Given the description of an element on the screen output the (x, y) to click on. 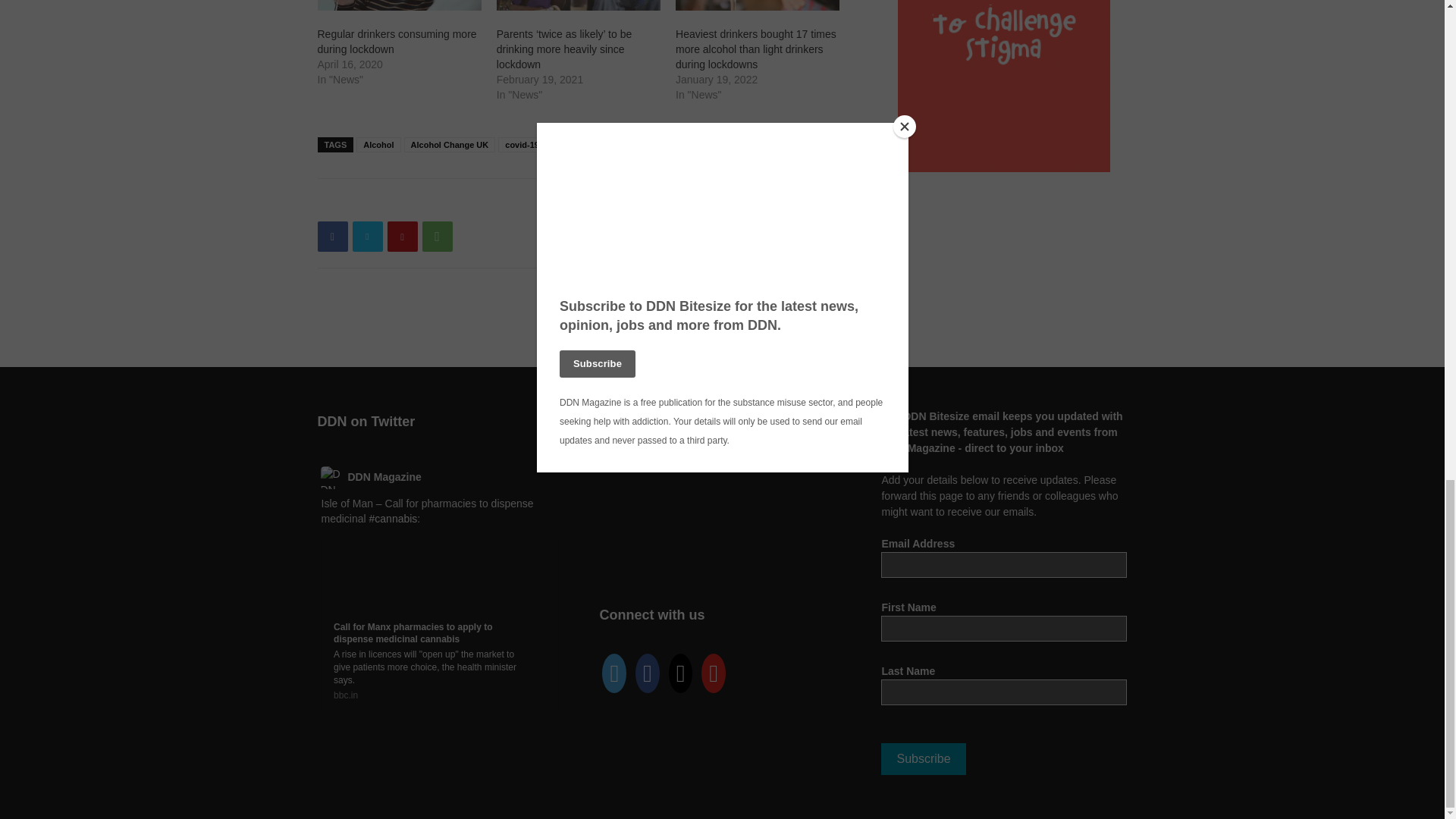
Twitter (366, 236)
Pinterest (401, 236)
Facebook (332, 236)
Subscribe (922, 758)
Regular drinkers consuming more during lockdown (396, 41)
Regular drinkers consuming more during lockdown (398, 5)
WhatsApp (436, 236)
